Given the description of an element on the screen output the (x, y) to click on. 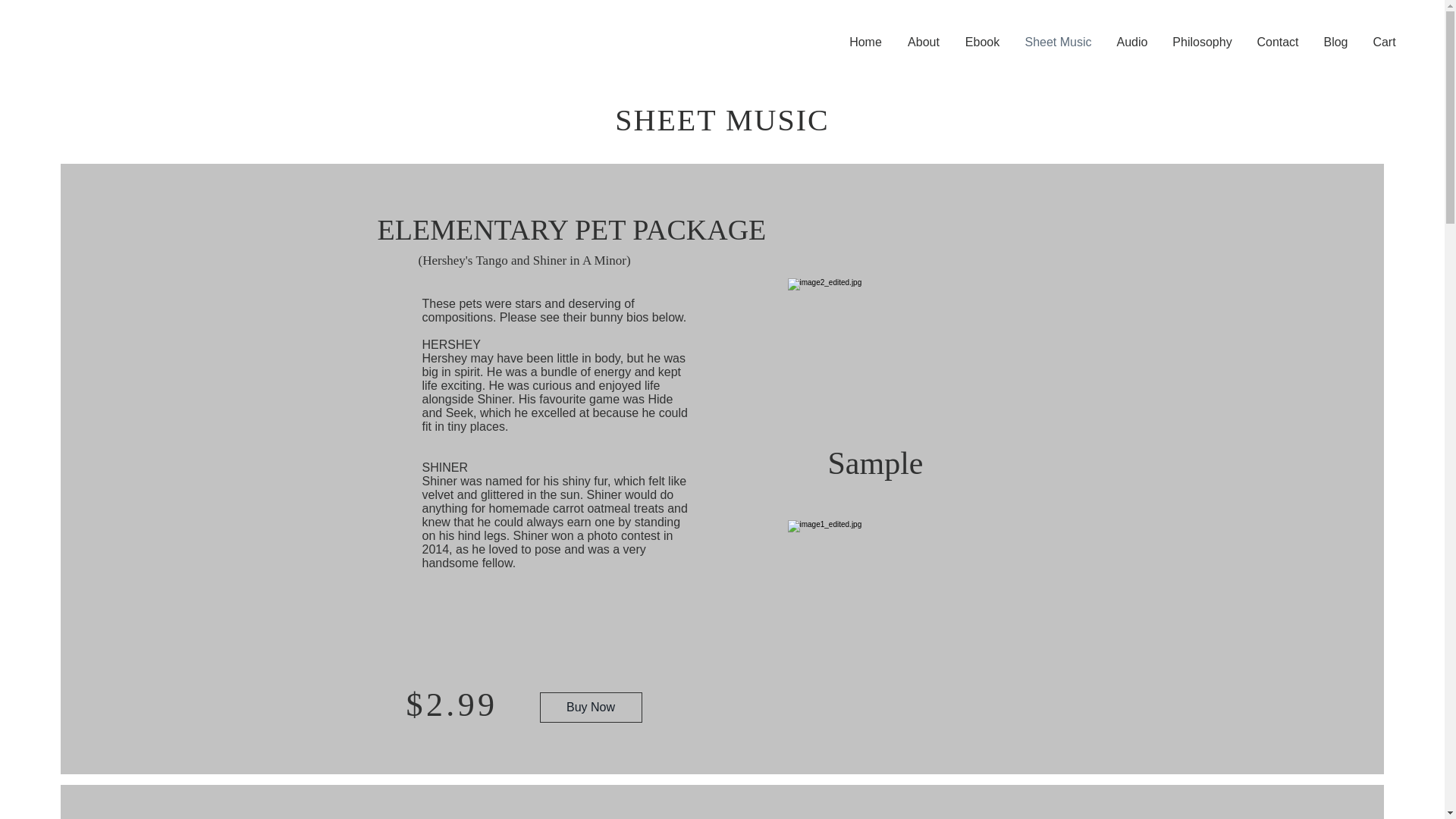
Philosophy (1202, 42)
Contact (1277, 42)
Ebook (981, 42)
Audio (1131, 42)
Sheet Music (1057, 42)
Blog (1335, 42)
Home (865, 42)
Buy Now (591, 707)
Cart (1383, 42)
About (923, 42)
